Given the description of an element on the screen output the (x, y) to click on. 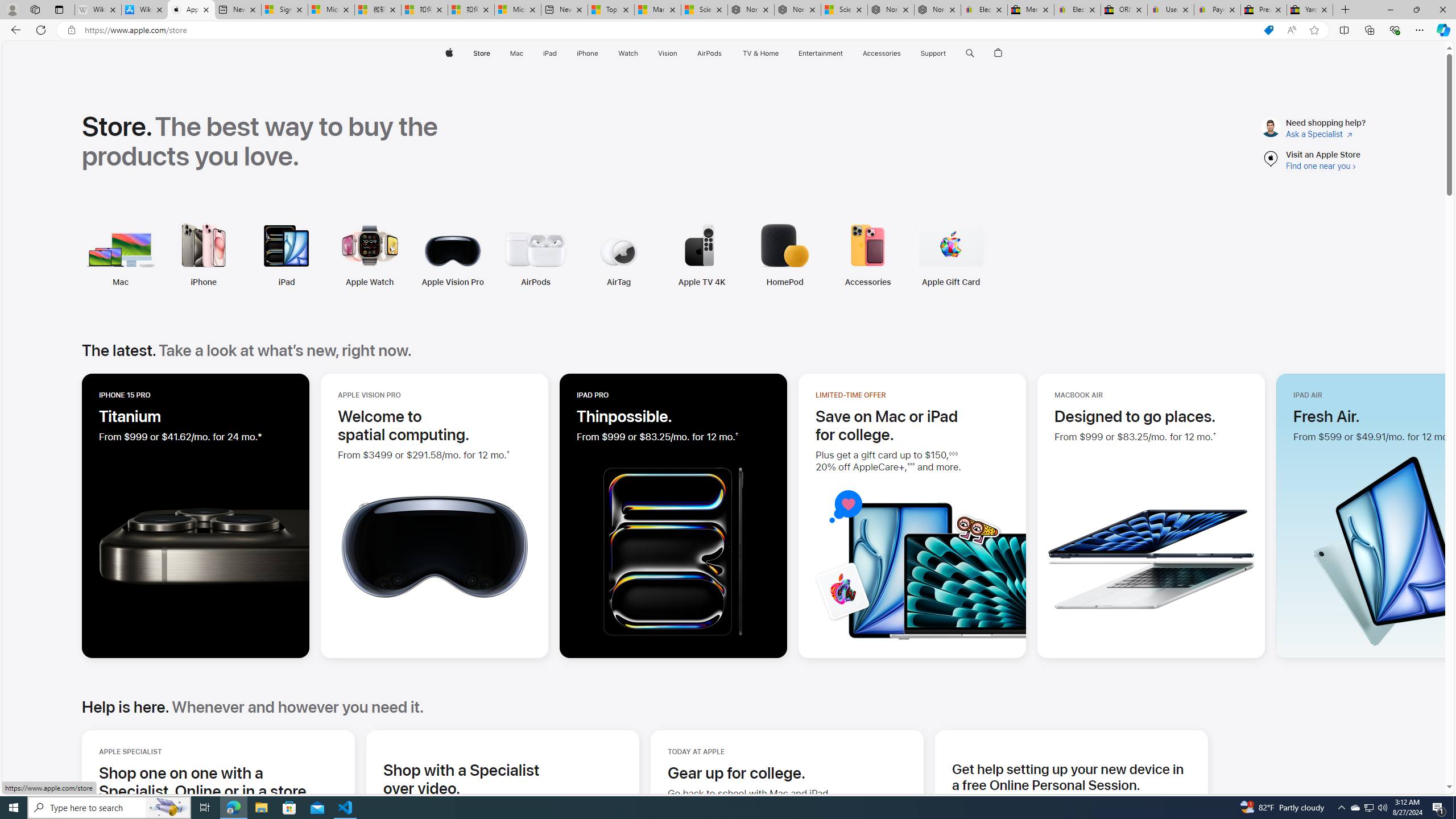
Apple TV 4K (701, 281)
Accessories menu (903, 53)
Vision menu (678, 53)
Apple Watch (292, 254)
HomePod (784, 281)
iPad (285, 281)
AirPods (458, 254)
